Given the description of an element on the screen output the (x, y) to click on. 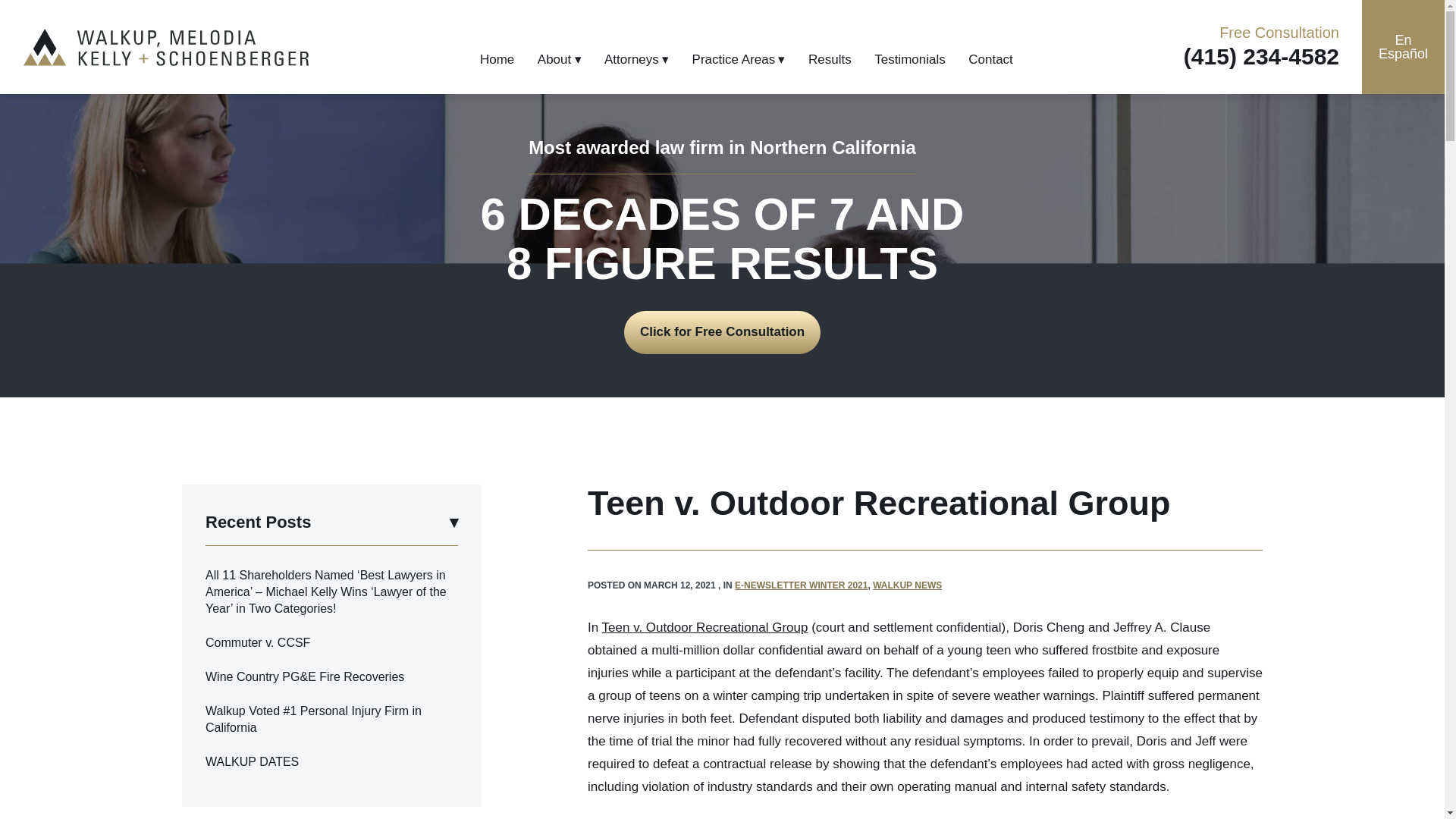
Practice Areas (739, 59)
Attorneys (636, 59)
Phone (1261, 56)
